Given the description of an element on the screen output the (x, y) to click on. 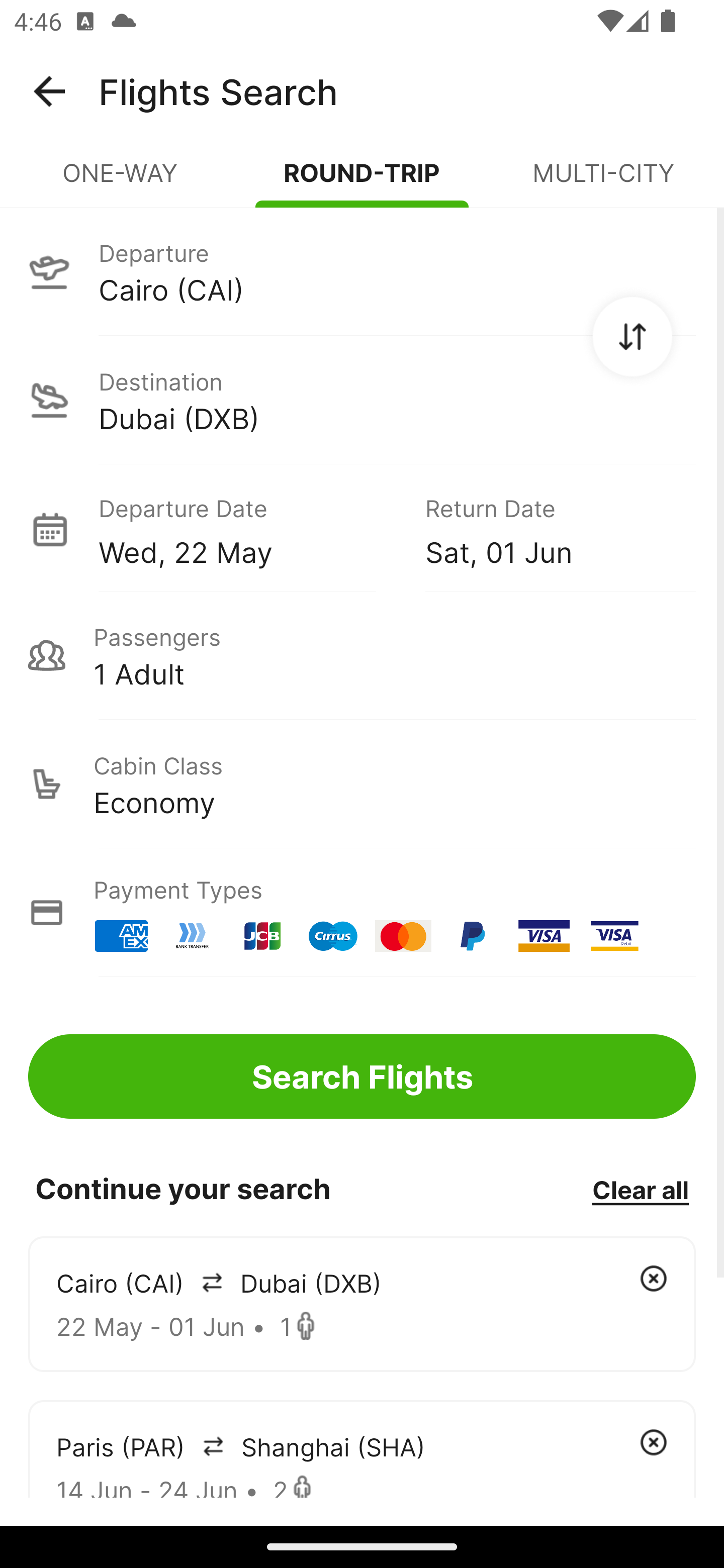
ONE-WAY (120, 180)
ROUND-TRIP (361, 180)
MULTI-CITY (603, 180)
Departure Cairo (CAI) (362, 270)
Destination Dubai (DXB) (362, 400)
Departure Date Wed, 22 May (247, 528)
Return Date Sat, 01 Jun (546, 528)
Passengers 1 Adult (362, 655)
Cabin Class Economy (362, 783)
Payment Types (362, 912)
Search Flights (361, 1075)
Clear all (640, 1189)
